Given the description of an element on the screen output the (x, y) to click on. 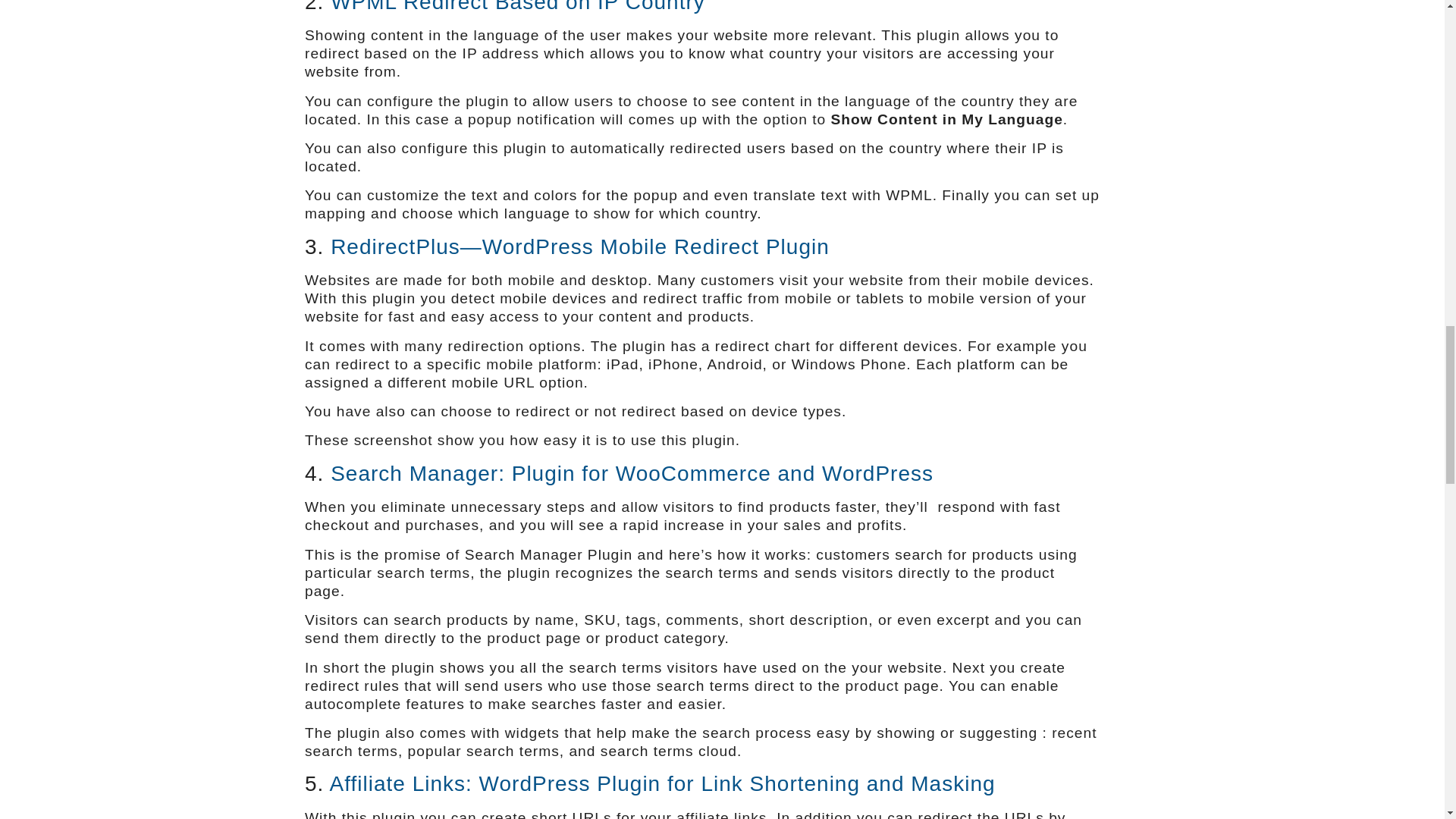
Search Manager: Plugin for WooCommerce and WordPress (631, 473)
WPML Redirect Based on IP Country (517, 6)
